Given the description of an element on the screen output the (x, y) to click on. 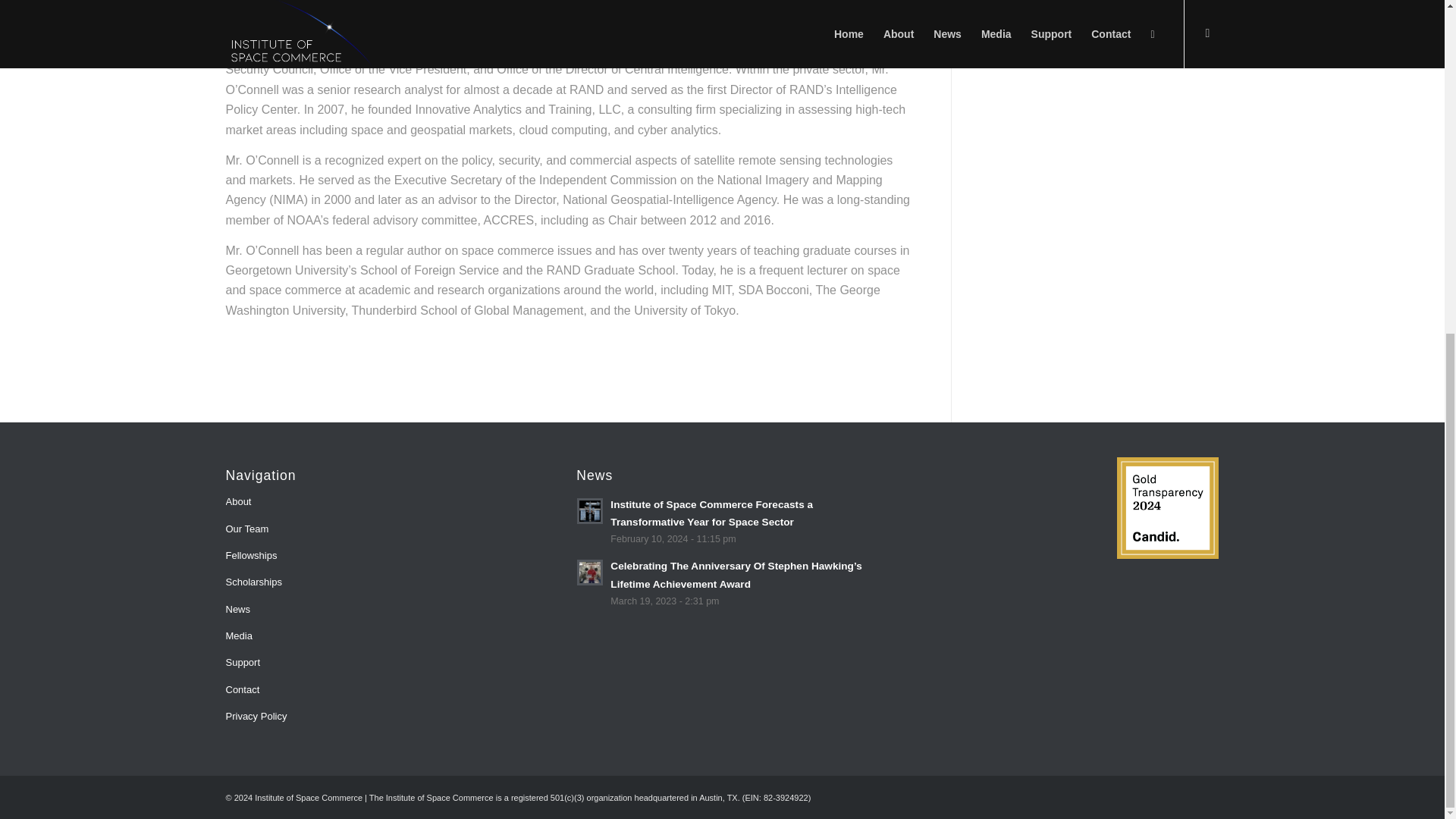
News (370, 610)
Privacy Policy (370, 716)
Media (370, 636)
Scholarships (370, 582)
Contact (370, 690)
Fellowships (370, 555)
About (370, 501)
Support (370, 663)
Our Team (370, 529)
